Given the description of an element on the screen output the (x, y) to click on. 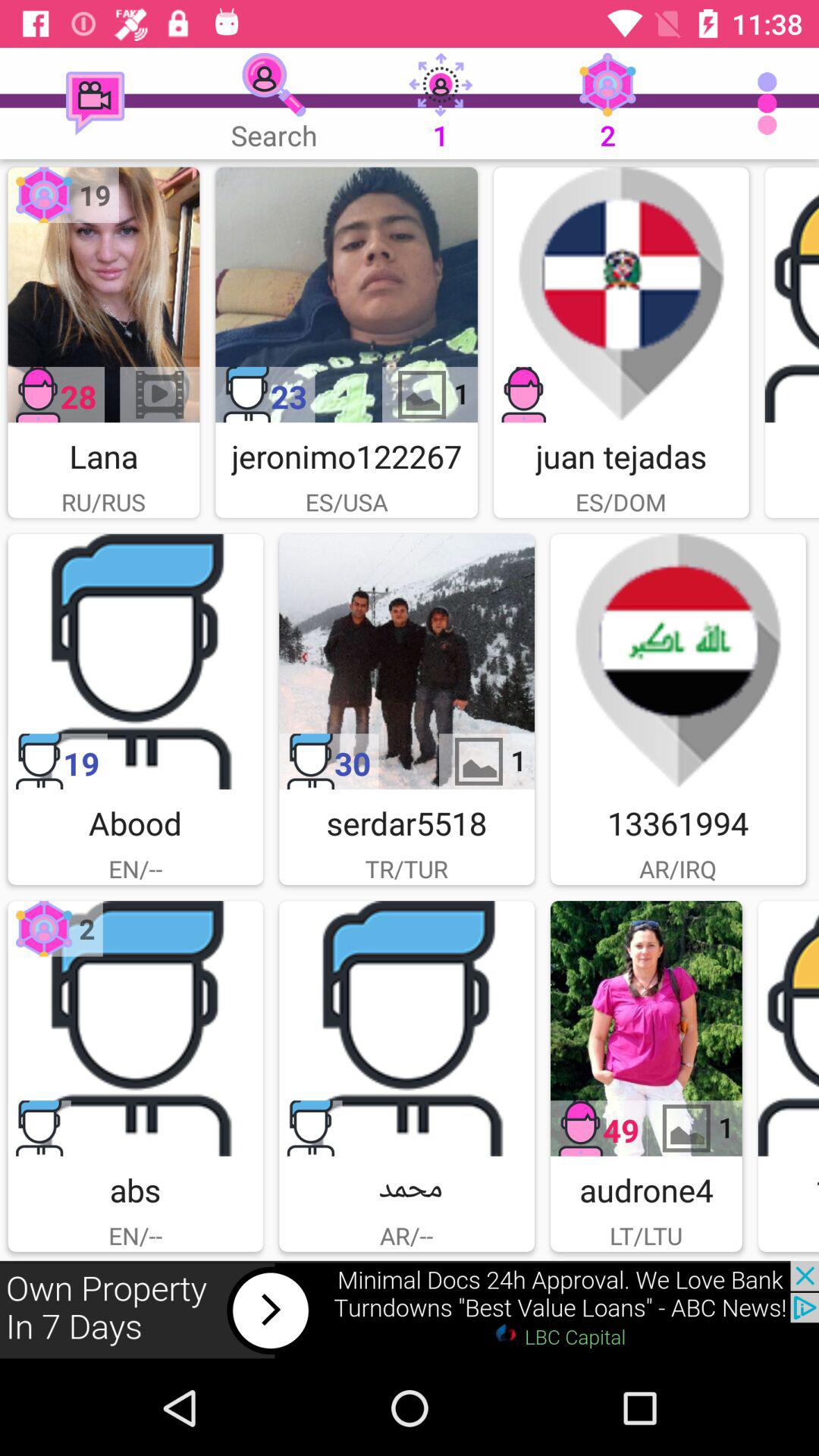
go to profile (406, 1028)
